Given the description of an element on the screen output the (x, y) to click on. 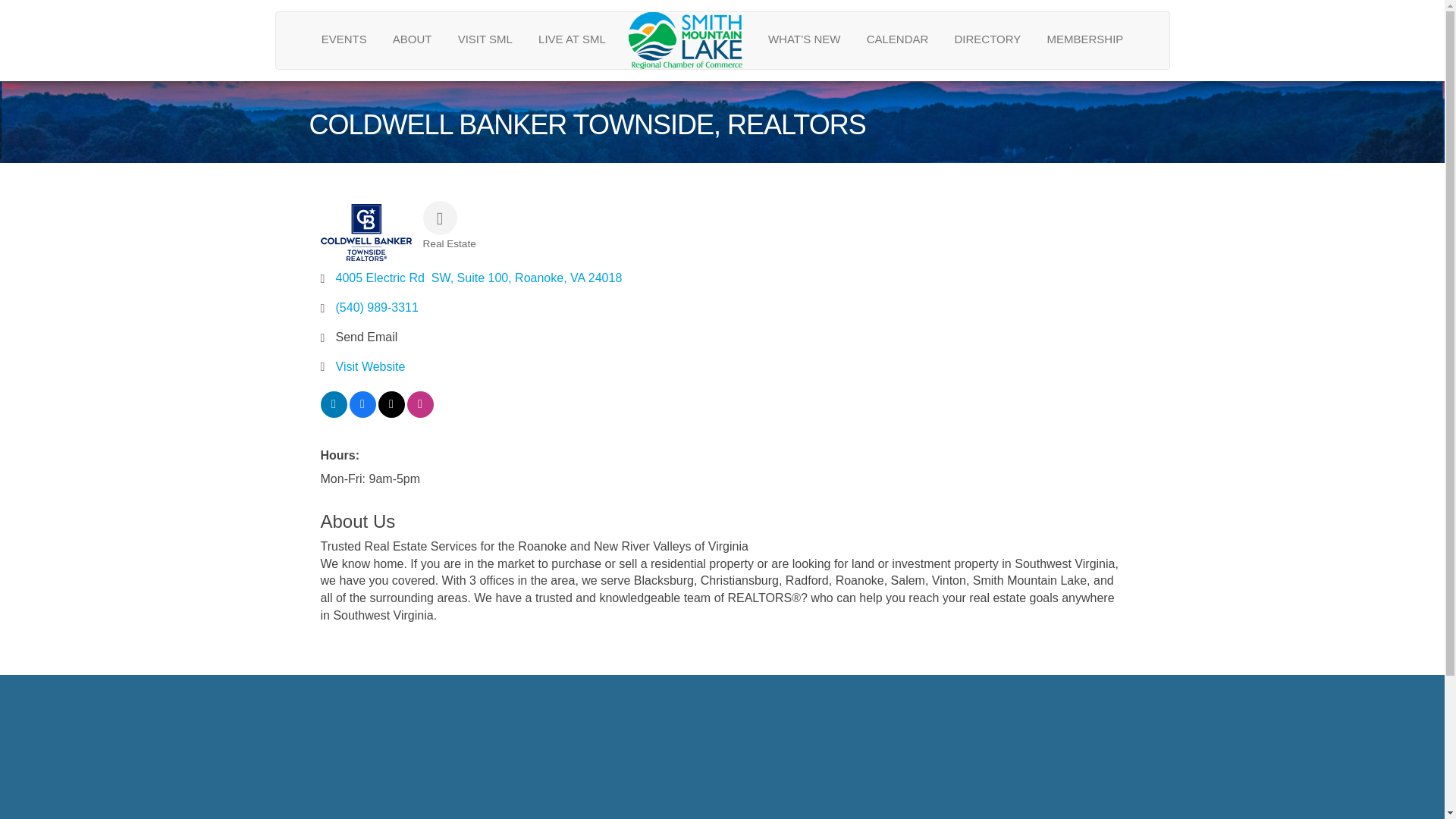
EVENTS (344, 38)
View on Instagram (419, 413)
View on LinkedIn (333, 413)
View on Facebook (362, 413)
View on Twitter (390, 413)
Coldwell Banker Townside, REALTORS (365, 232)
ABOUT (412, 38)
VISIT SML (485, 38)
